Given the description of an element on the screen output the (x, y) to click on. 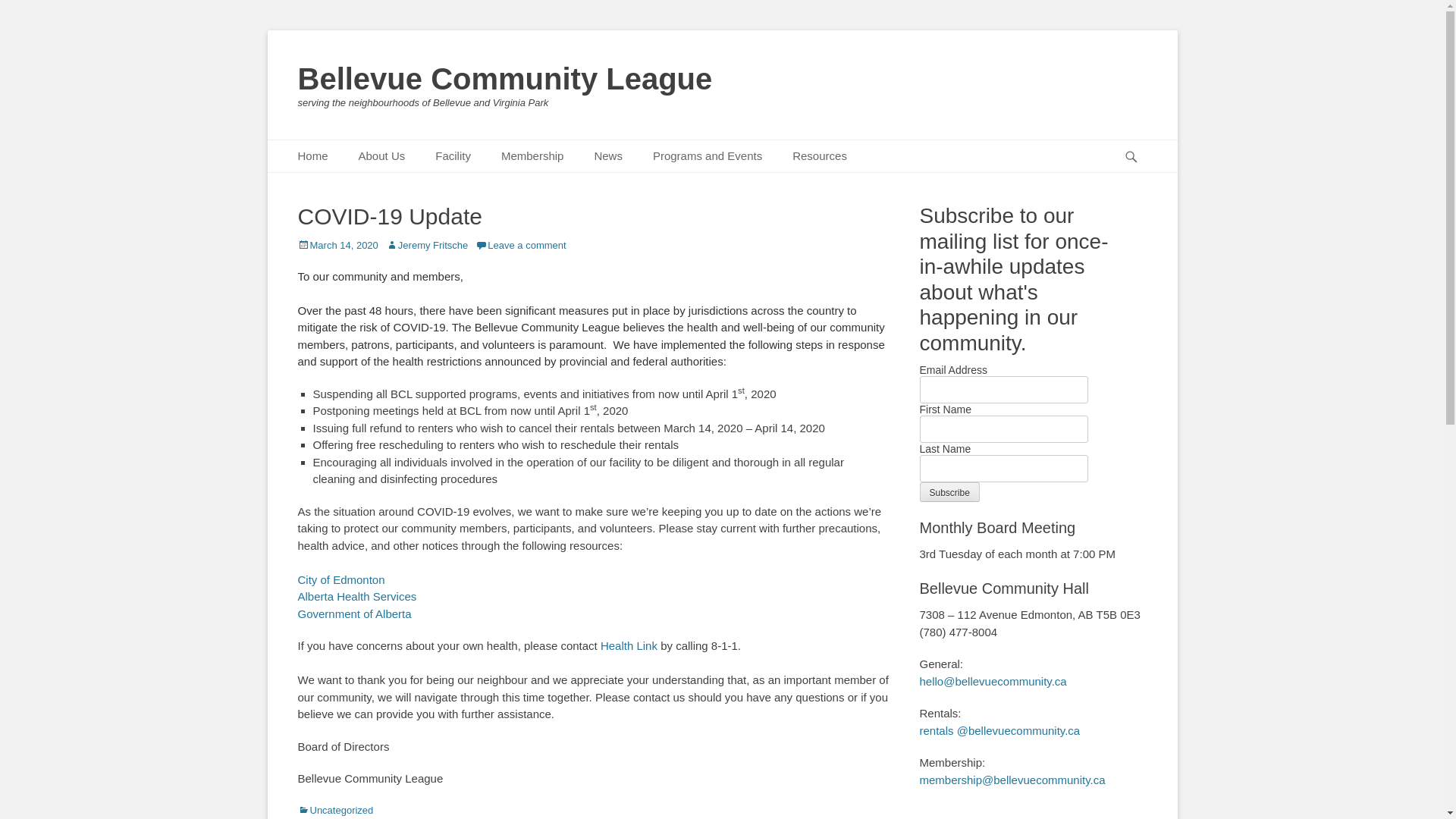
Bellevue Community League Element type: text (504, 78)
Uncategorized Element type: text (335, 809)
March 14, 2020 Element type: text (337, 245)
Membership Element type: text (532, 156)
About Us Element type: text (381, 156)
Government of Alberta Element type: text (354, 613)
City of Edmonton Element type: text (340, 579)
Search Element type: text (1137, 139)
membership@bellevuecommunity.ca Element type: text (1011, 779)
Jeremy Fritsche Element type: text (426, 245)
Health Link Element type: text (628, 645)
Resources Element type: text (819, 156)
hello@bellevuecommunity.ca Element type: text (992, 680)
Programs and Events Element type: text (707, 156)
News Element type: text (607, 156)
Facility Element type: text (453, 156)
Alberta Health Services Element type: text (356, 595)
Home Element type: text (312, 156)
Leave a comment Element type: text (520, 245)
rentals @bellevuecommunity.ca Element type: text (999, 730)
Subscribe Element type: text (949, 492)
